Given the description of an element on the screen output the (x, y) to click on. 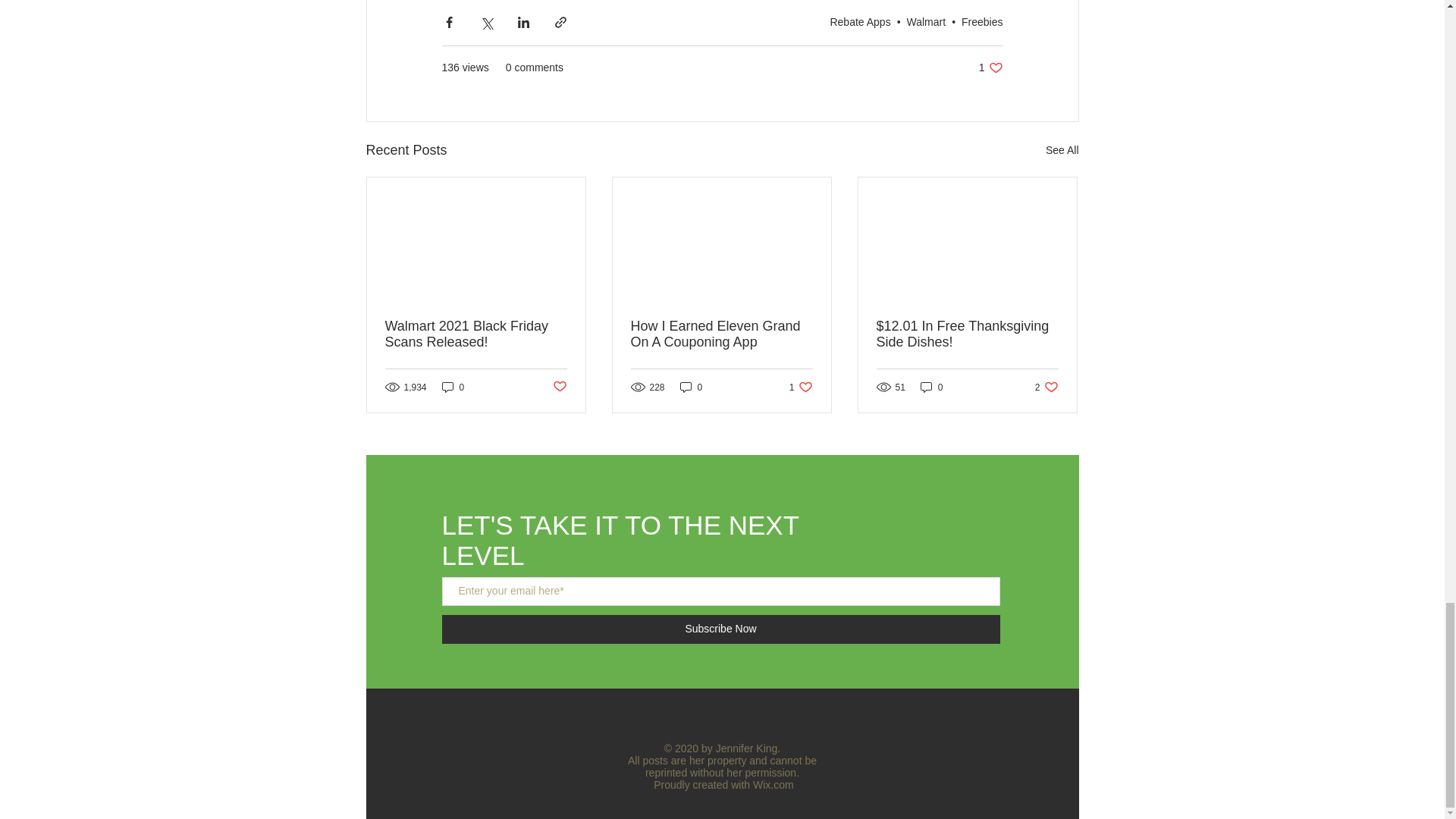
See All (1061, 150)
Freebies (981, 21)
Walmart 2021 Black Friday Scans Released! (476, 334)
Rebate Apps (859, 21)
Walmart (990, 67)
